Given the description of an element on the screen output the (x, y) to click on. 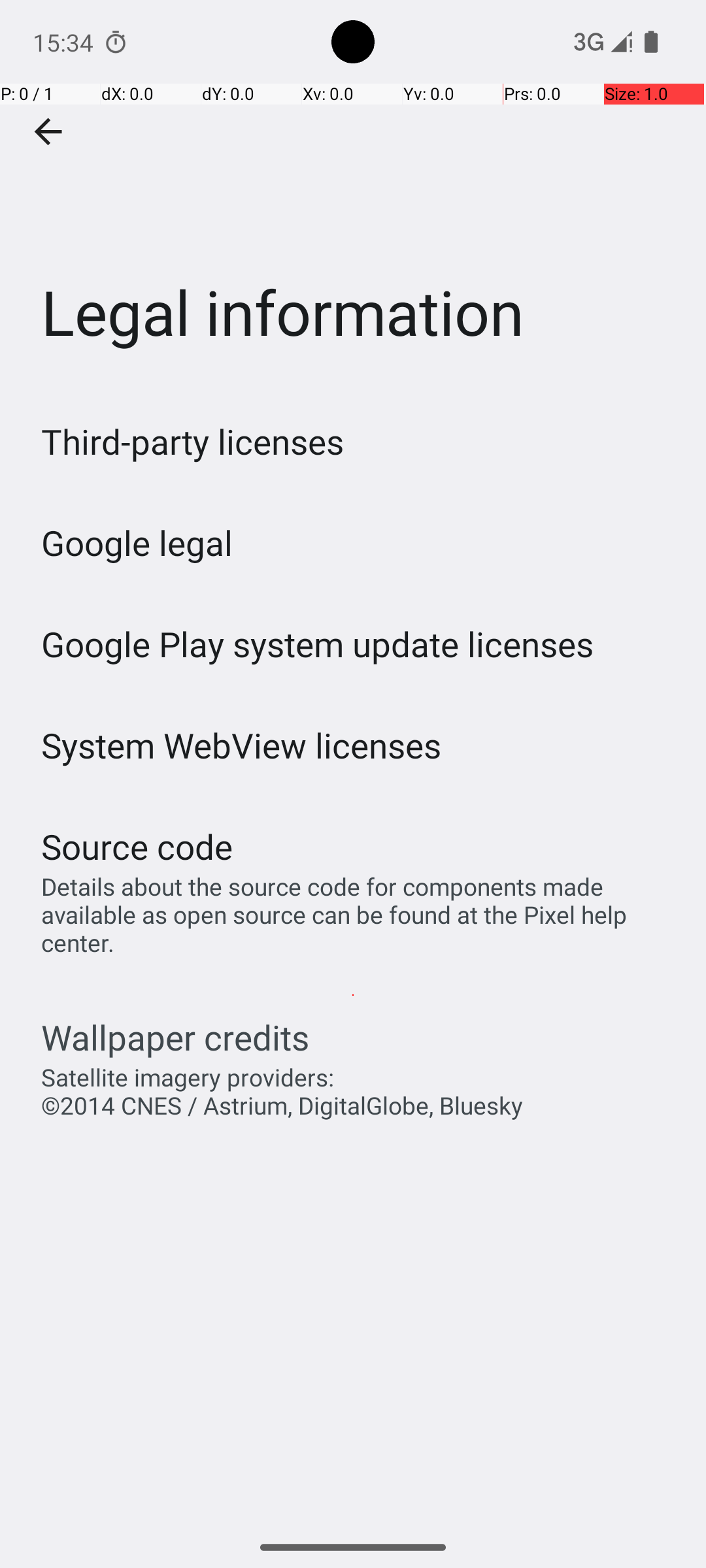
Legal information Element type: android.widget.FrameLayout (353, 195)
Third-party licenses Element type: android.widget.TextView (192, 441)
Google legal Element type: android.widget.TextView (136, 542)
Google Play system update licenses Element type: android.widget.TextView (317, 643)
System WebView licenses Element type: android.widget.TextView (241, 744)
Source code Element type: android.widget.TextView (136, 846)
Details about the source code for components made available as open source can be found at the Pixel help center. Element type: android.widget.TextView (359, 914)
Wallpaper credits Element type: android.widget.TextView (175, 1036)
Satellite imagery providers:
©2014 CNES / Astrium, DigitalGlobe, Bluesky Element type: android.widget.TextView (281, 1090)
